Given the description of an element on the screen output the (x, y) to click on. 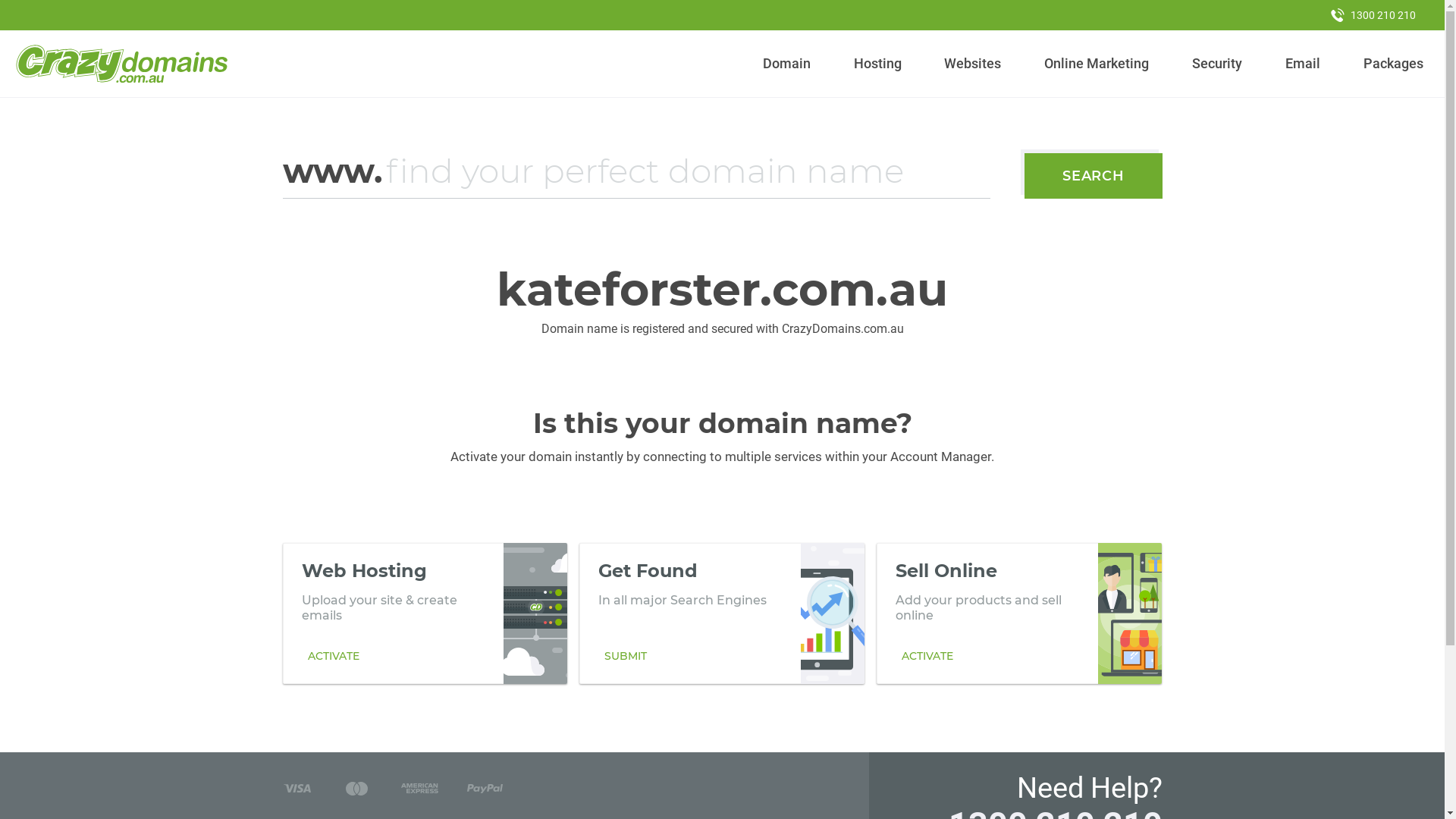
Hosting Element type: text (877, 63)
Packages Element type: text (1392, 63)
Online Marketing Element type: text (1096, 63)
Get Found
In all major Search Engines
SUBMIT Element type: text (721, 613)
Sell Online
Add your products and sell online
ACTIVATE Element type: text (1018, 613)
Domain Element type: text (786, 63)
Web Hosting
Upload your site & create emails
ACTIVATE Element type: text (424, 613)
SEARCH Element type: text (1092, 175)
Email Element type: text (1302, 63)
1300 210 210 Element type: text (1373, 15)
Security Element type: text (1217, 63)
Websites Element type: text (972, 63)
